Given the description of an element on the screen output the (x, y) to click on. 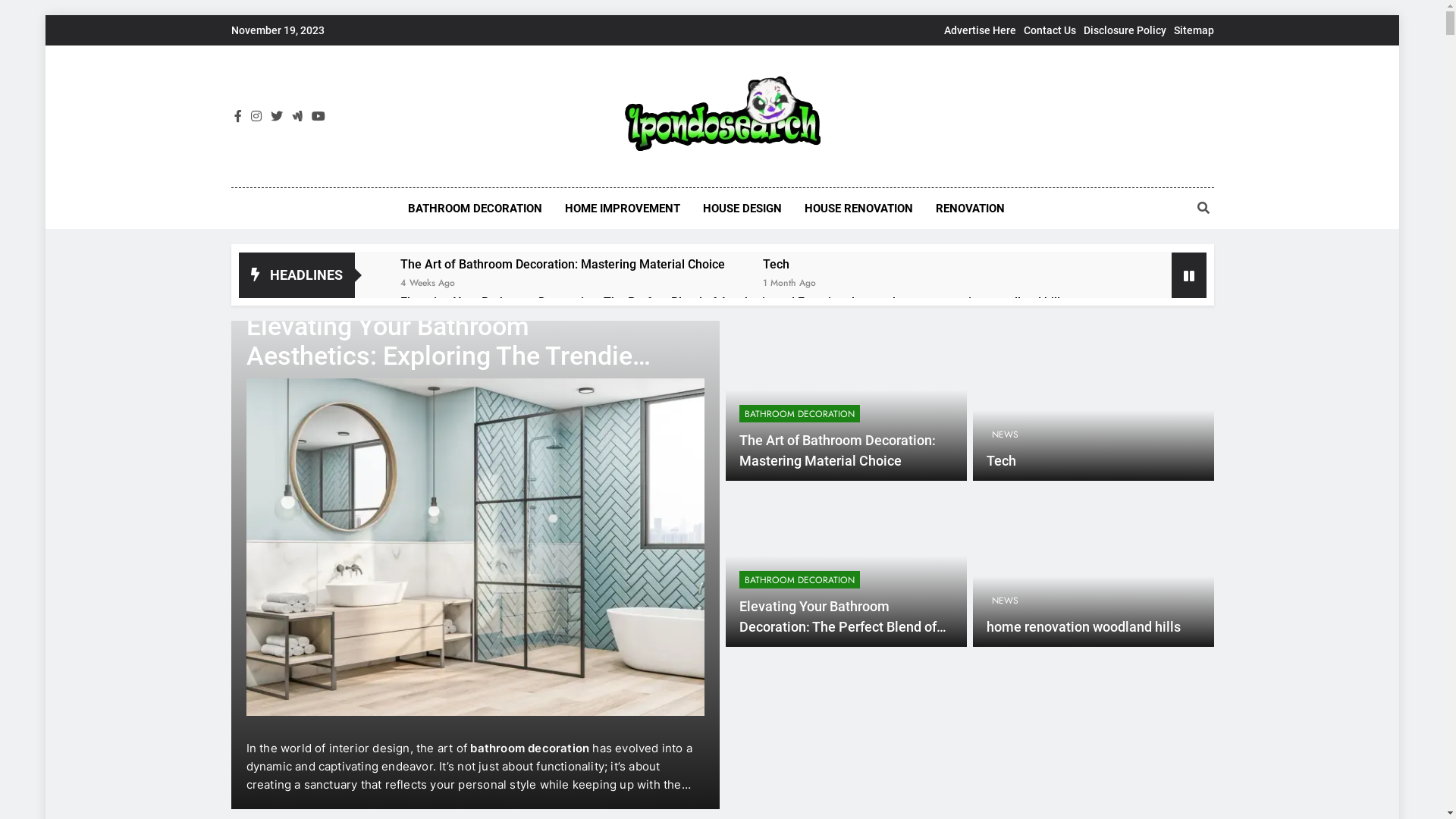
HOUSE RENOVATION Element type: text (858, 208)
HOUSE DESIGN Element type: text (742, 208)
RENOVATION Element type: text (970, 208)
Sitemap Element type: text (1193, 30)
HOME IMPROVEMENT Element type: text (622, 208)
1 Month Ago Element type: text (788, 281)
Contact Us Element type: text (1049, 30)
Advertise Here Element type: text (979, 30)
BATHROOM DECORATION Element type: text (798, 579)
4 Weeks Ago Element type: text (427, 281)
Tech Element type: text (1000, 460)
Disclosure Policy Element type: text (1123, 30)
1Pondo Element type: text (540, 173)
NEWS Element type: text (1003, 433)
The Art of Bathroom Decoration: Mastering Material Choice Element type: text (836, 450)
BATHROOM DECORATION Element type: text (474, 208)
The Art of Bathroom Decoration: Mastering Material Choice Element type: text (562, 264)
NEWS Element type: text (1003, 599)
BATHROOM DECORATION Element type: text (798, 413)
home renovation woodland hills Element type: text (1082, 626)
home renovation woodland hills Element type: text (979, 301)
Tech Element type: text (788, 264)
Skip to content Element type: text (44, 14)
